Given the description of an element on the screen output the (x, y) to click on. 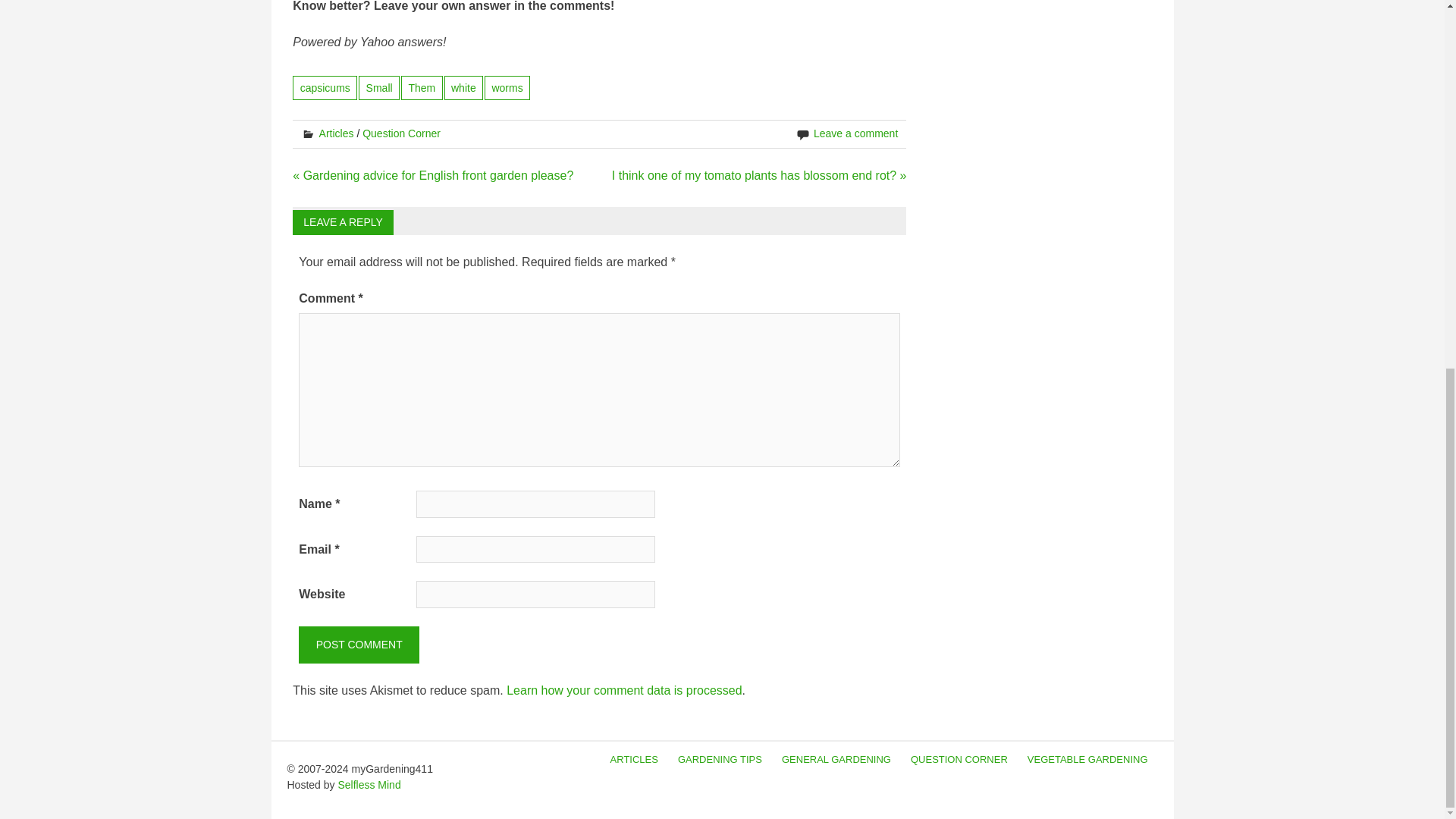
Post Comment (358, 644)
Small (378, 87)
Them (421, 87)
Learn how your comment data is processed (623, 689)
white (463, 87)
ARTICLES (633, 759)
Post Comment (358, 644)
hosted by Selfless Mind (368, 784)
capsicums (324, 87)
Question Corner (401, 133)
